Given the description of an element on the screen output the (x, y) to click on. 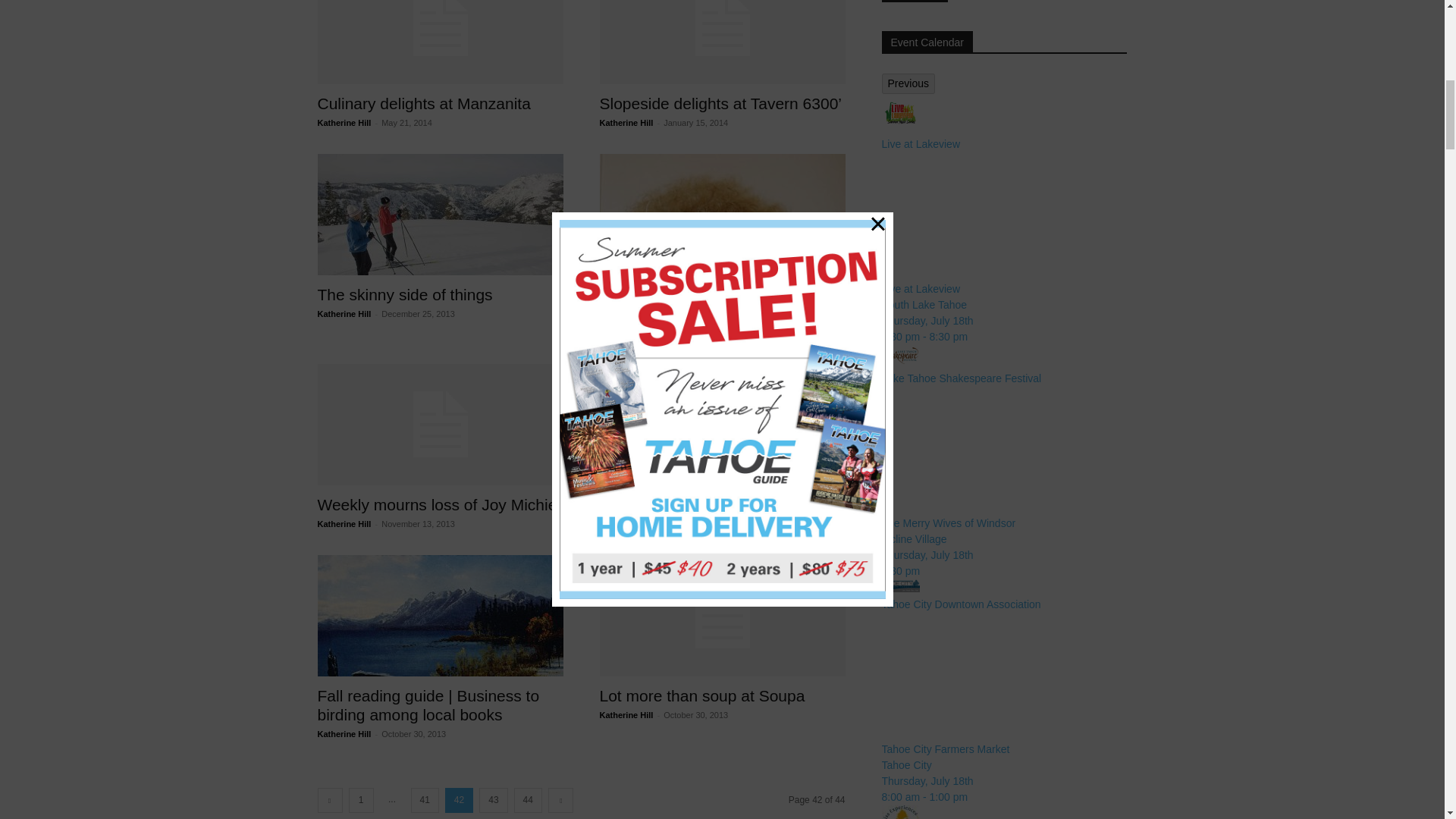
Subscribe (913, 1)
